Given the description of an element on the screen output the (x, y) to click on. 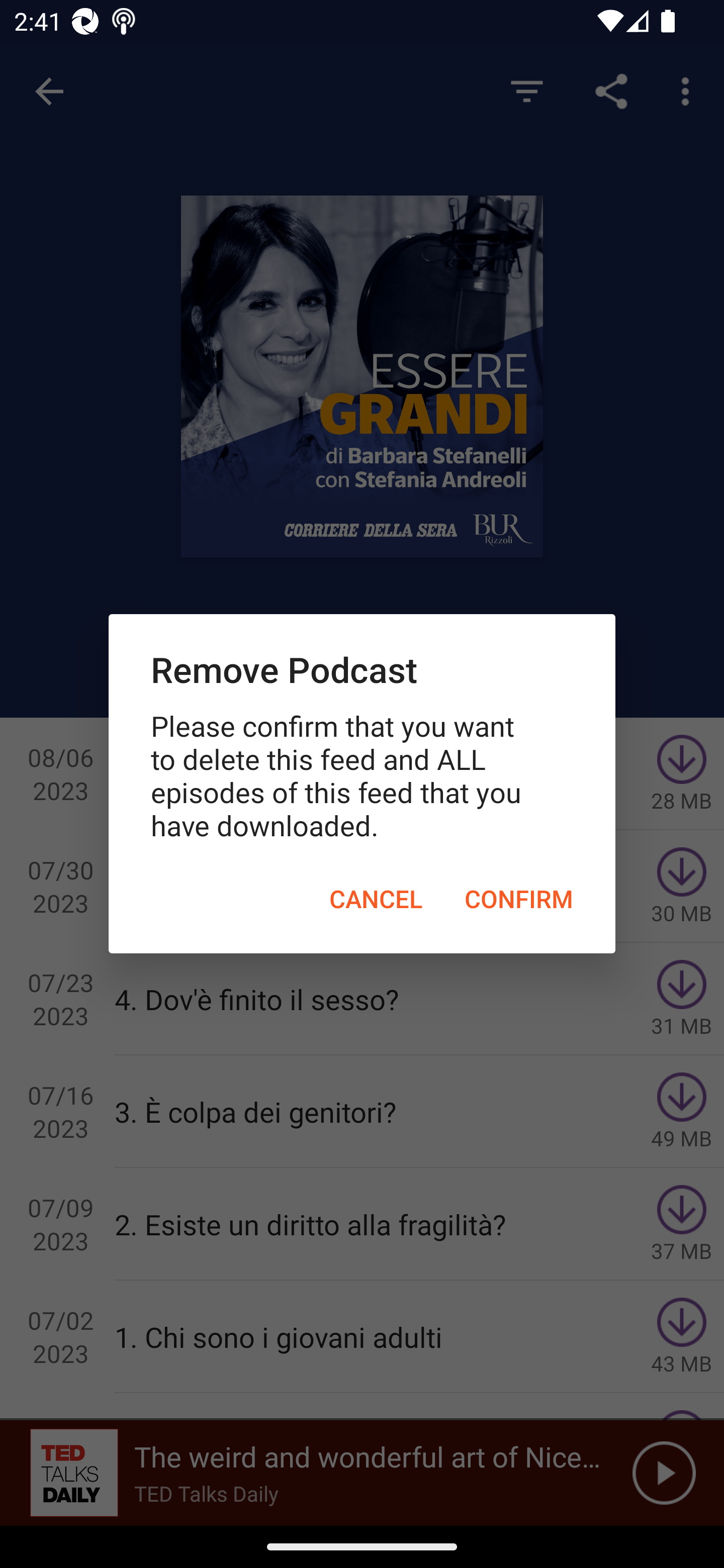
CANCEL (375, 899)
CONFIRM (518, 899)
